Given the description of an element on the screen output the (x, y) to click on. 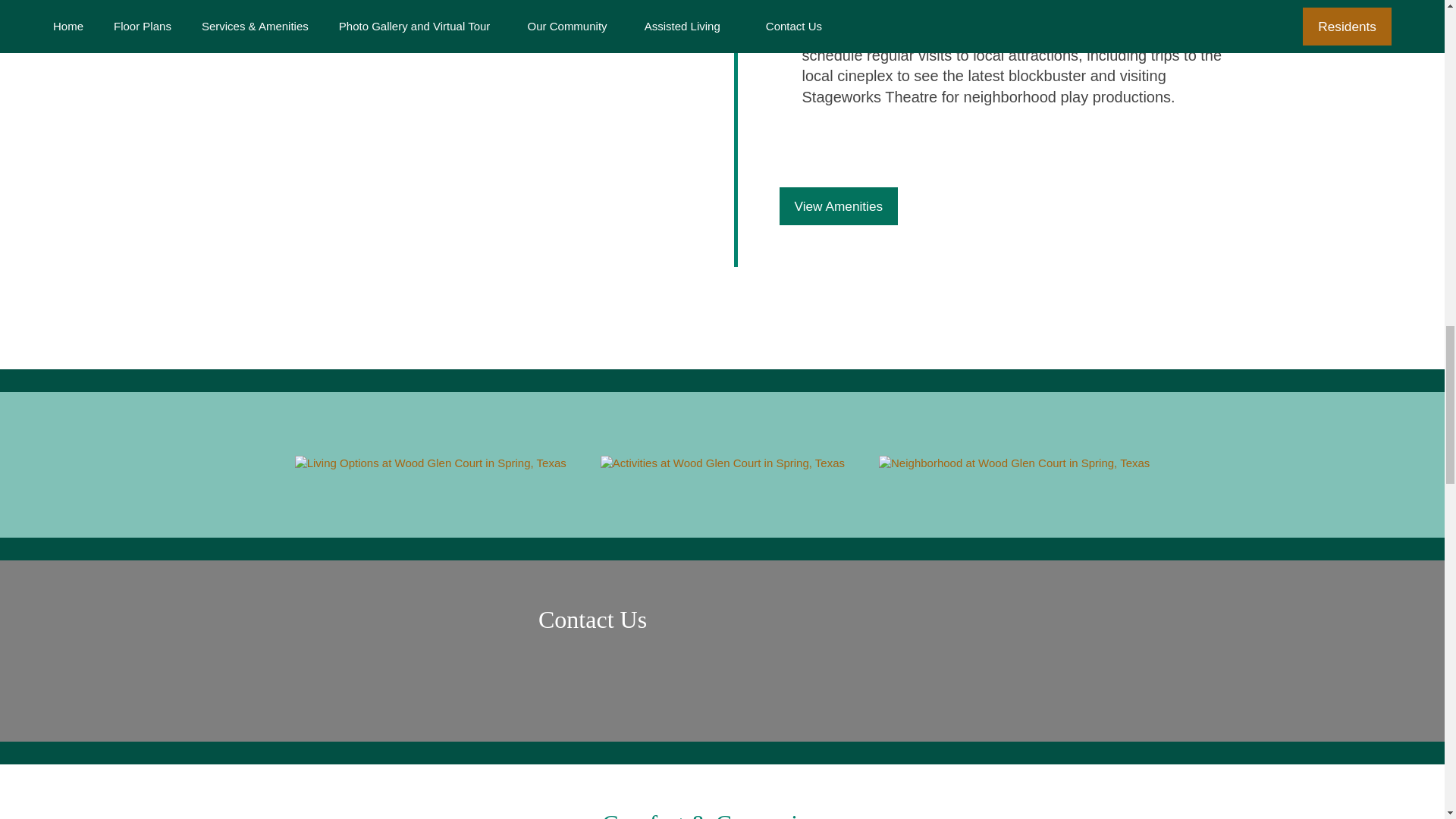
View Amenities (838, 206)
